Given the description of an element on the screen output the (x, y) to click on. 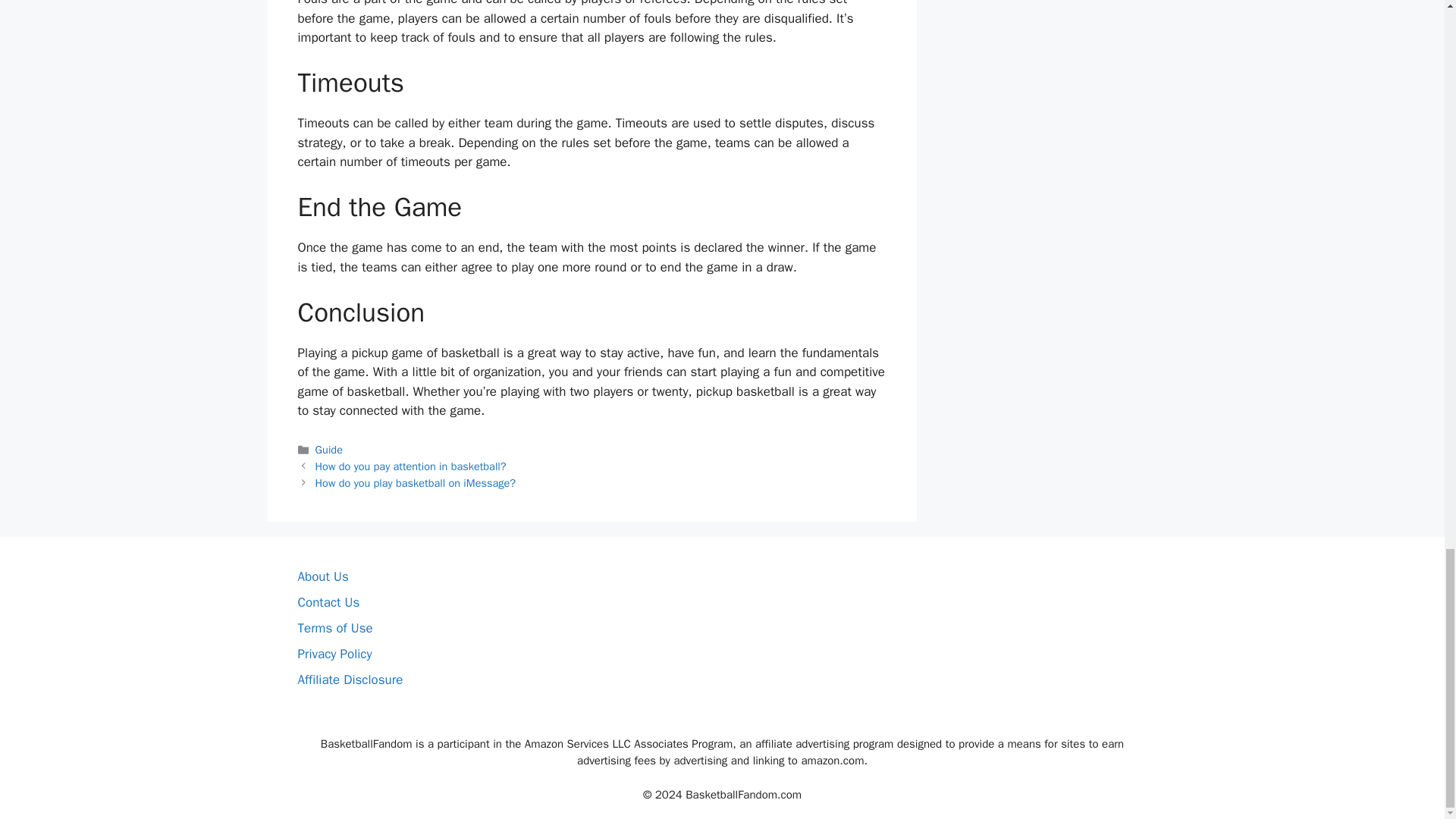
How do you pay attention in basketball? (410, 466)
About Us (322, 576)
Affiliate Disclosure (350, 679)
How do you play basketball on iMessage? (415, 482)
Terms of Use (334, 627)
Privacy Policy (334, 653)
Guide (328, 449)
Contact Us (328, 602)
